Given the description of an element on the screen output the (x, y) to click on. 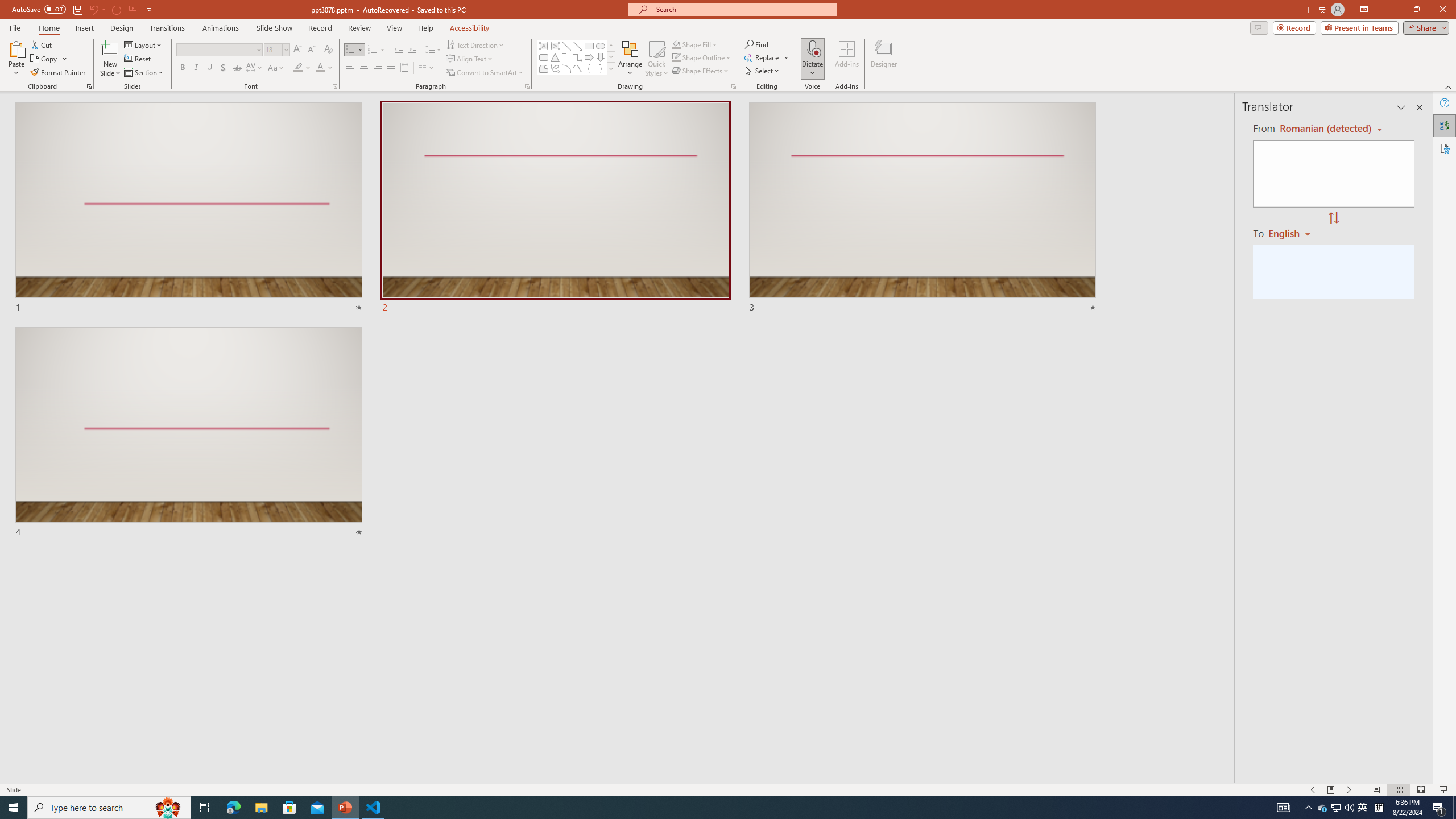
Close pane (1419, 107)
Numbering (376, 49)
Microsoft search (742, 9)
Align Left (349, 67)
Text Box (543, 45)
Increase Indent (412, 49)
Normal (1375, 790)
Distributed (404, 67)
Slide Sorter (1398, 790)
Record (1294, 27)
Quick Styles (656, 58)
Font Color Red (320, 67)
Font (219, 49)
Slide Show Next On (1349, 790)
Font Size (273, 49)
